Given the description of an element on the screen output the (x, y) to click on. 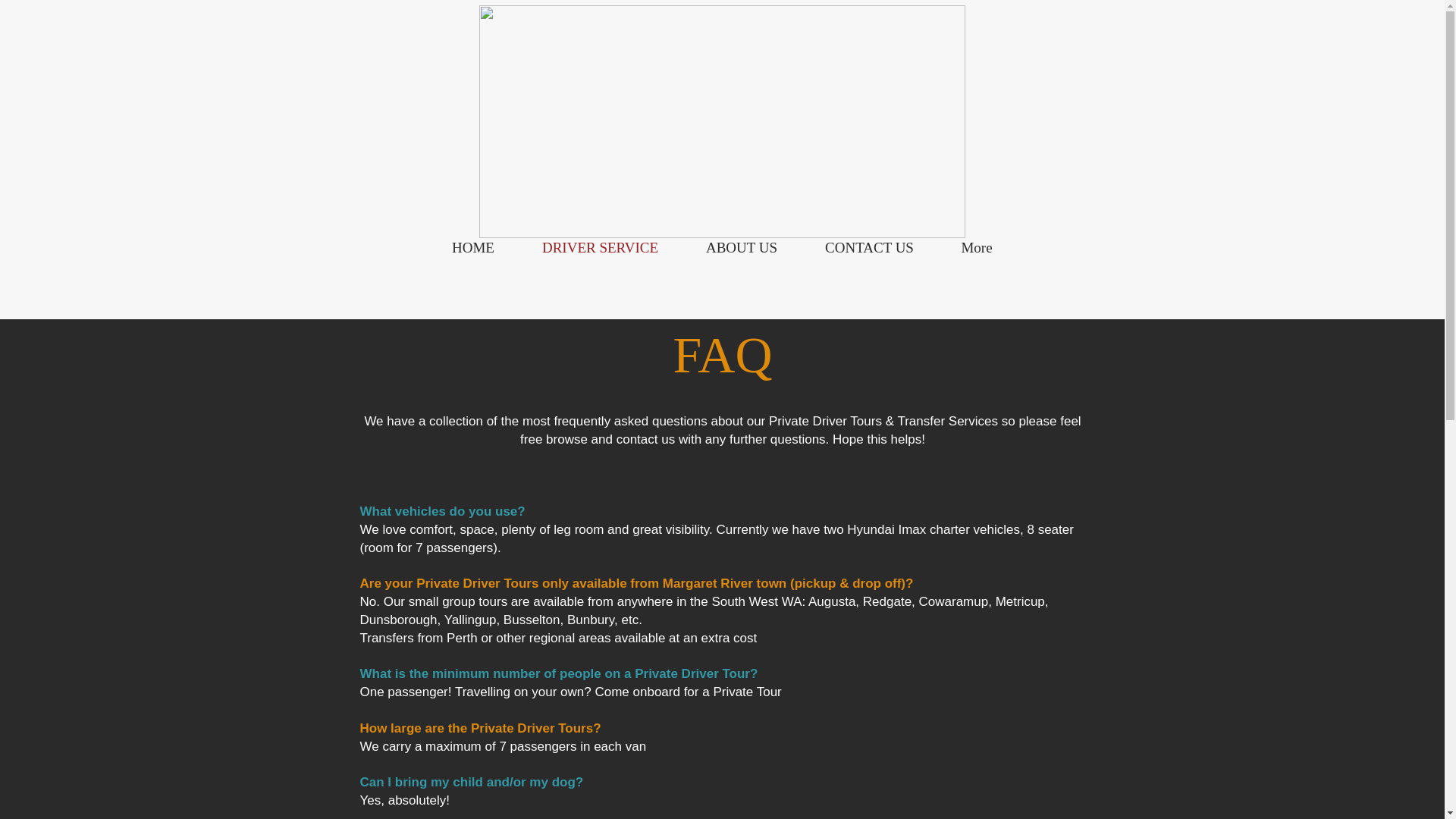
ABOUT US (742, 247)
CONTACT US (868, 247)
HOME (473, 247)
DRIVER SERVICE (600, 247)
LONG FORM LOGO.png (722, 121)
